Given the description of an element on the screen output the (x, y) to click on. 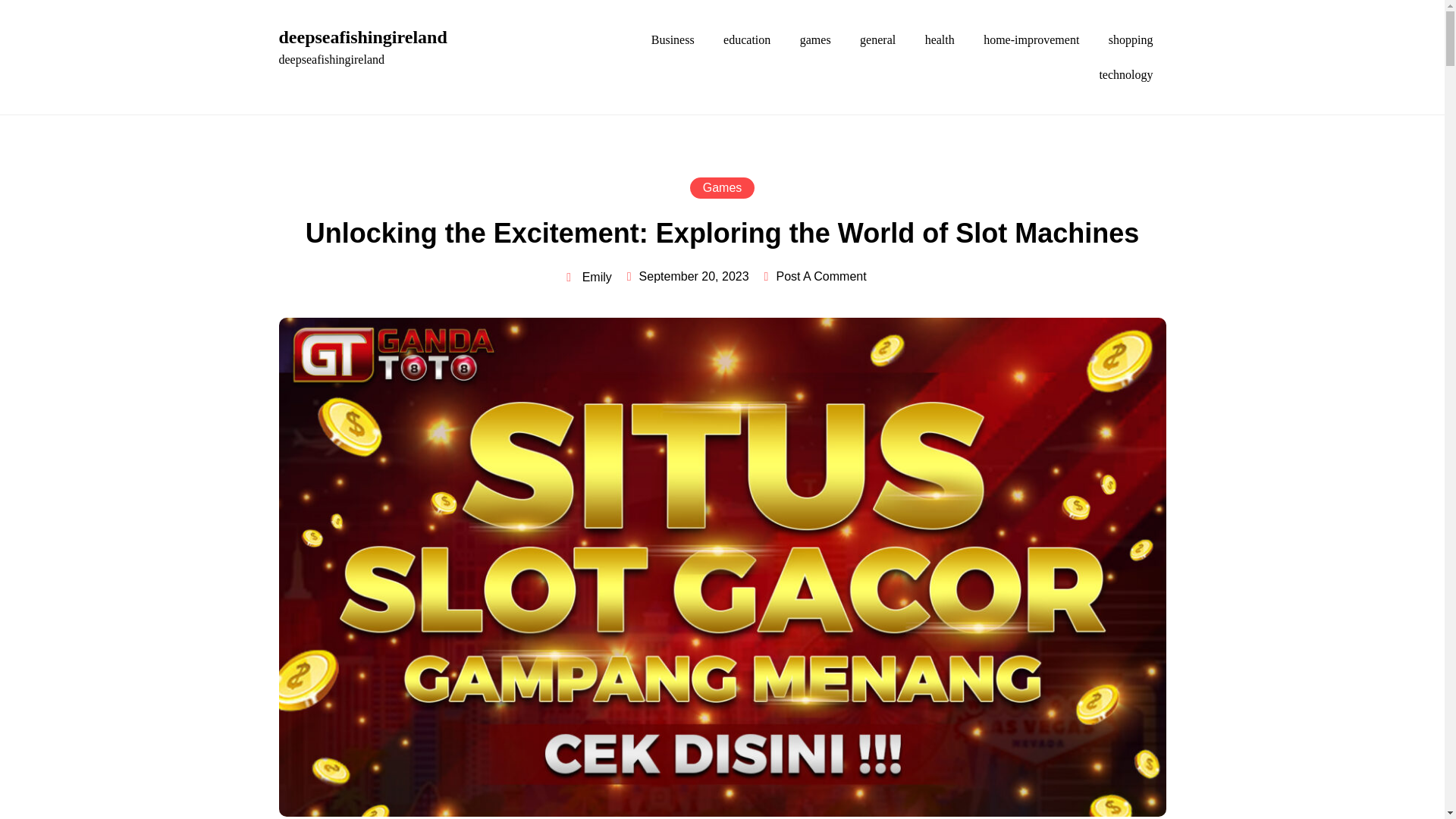
Business (673, 39)
Post A Comment (821, 276)
education (746, 39)
health (940, 39)
Emily (588, 276)
September 20, 2023 (694, 276)
technology (1126, 75)
games (815, 39)
Games (722, 187)
general (877, 39)
deepseafishingireland (362, 36)
home-improvement (1031, 39)
shopping (1131, 39)
